Given the description of an element on the screen output the (x, y) to click on. 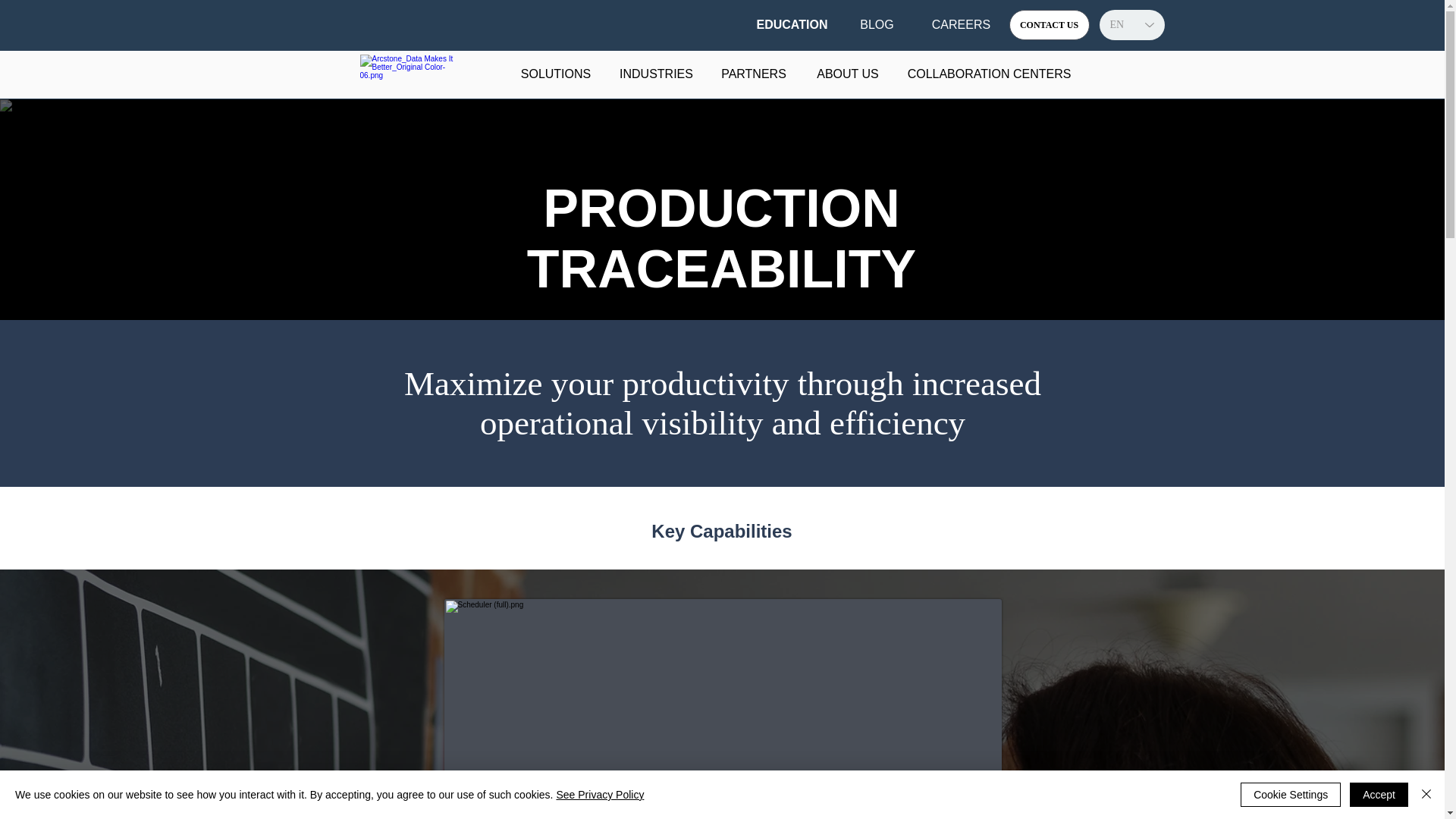
CONTACT US (1049, 24)
INDUSTRIES (656, 73)
COLLABORATION CENTERS (989, 73)
CAREERS (960, 24)
ABOUT US (846, 73)
Quickly generate, maintain and translate sales quotations. (624, 815)
BLOG (876, 24)
EDUCATION (792, 24)
View your schedule in full view (722, 708)
